Given the description of an element on the screen output the (x, y) to click on. 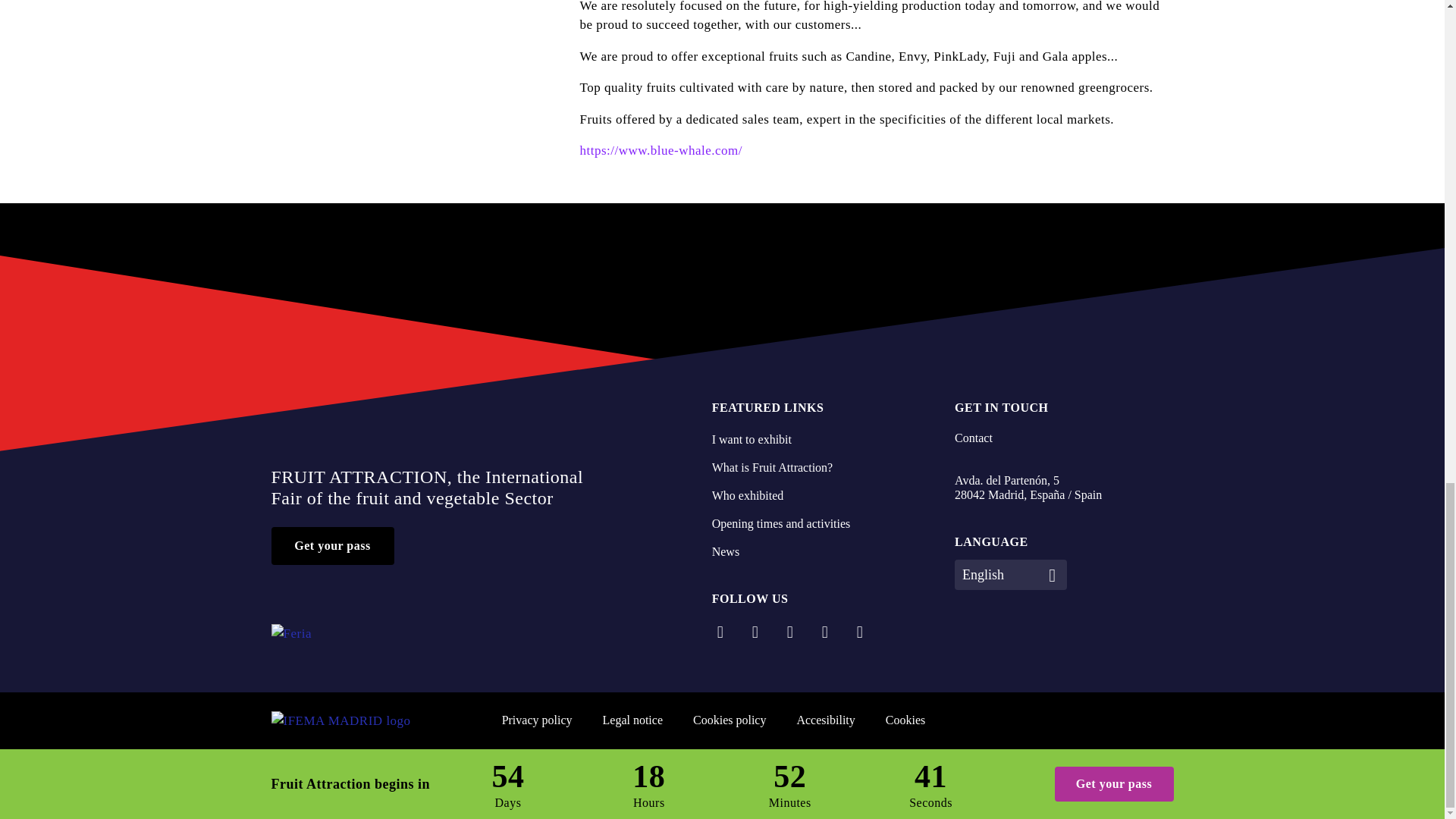
Open in a new window (859, 633)
Open in a new window (754, 633)
Open in a new window (789, 633)
Open in a new window (1028, 487)
Open in a new window (824, 633)
Open in a new window (720, 633)
